Given the description of an element on the screen output the (x, y) to click on. 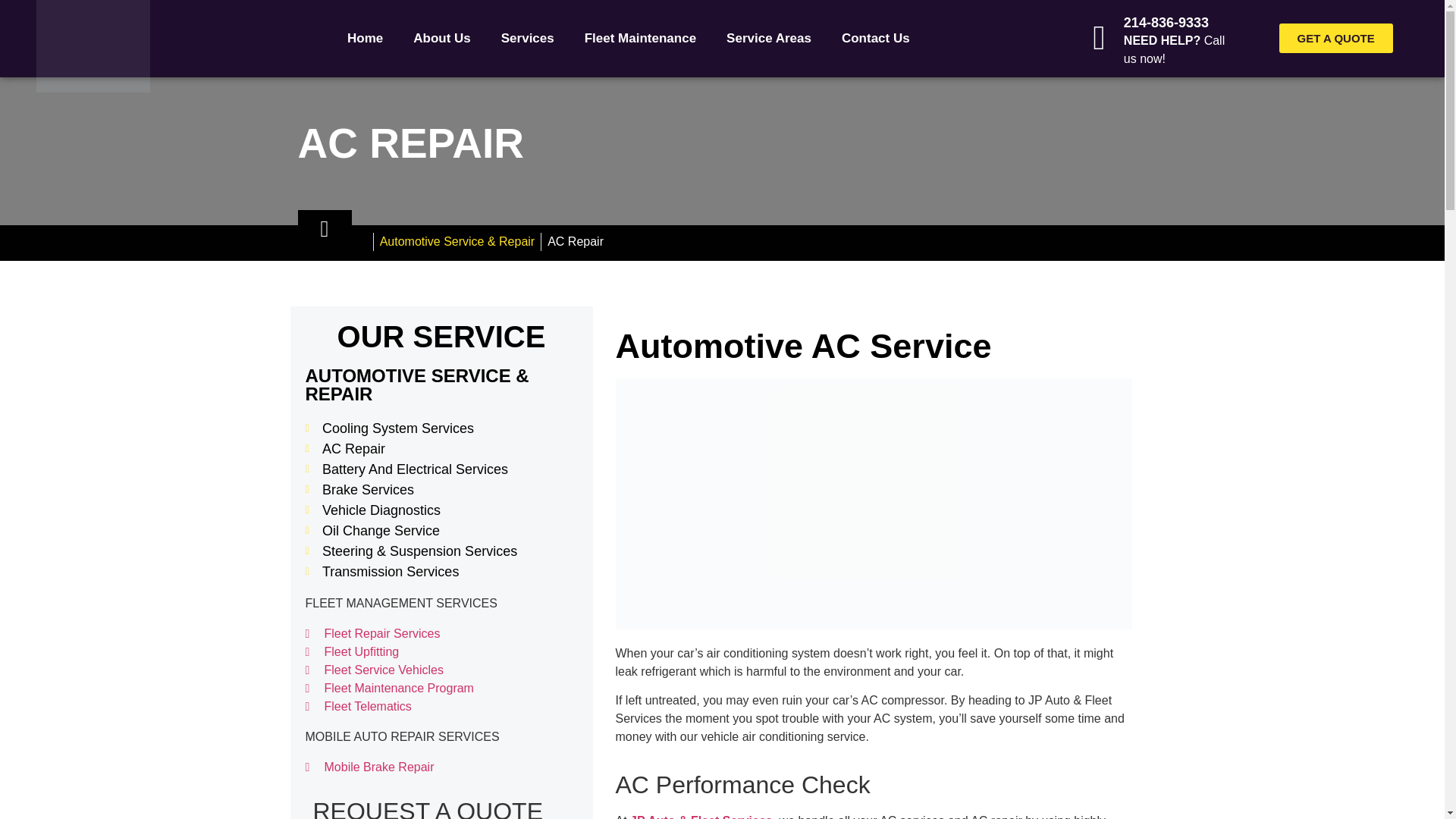
Fleet Maintenance (640, 38)
Services (527, 38)
Home (364, 38)
About Us (441, 38)
Service Areas (769, 38)
